Given the description of an element on the screen output the (x, y) to click on. 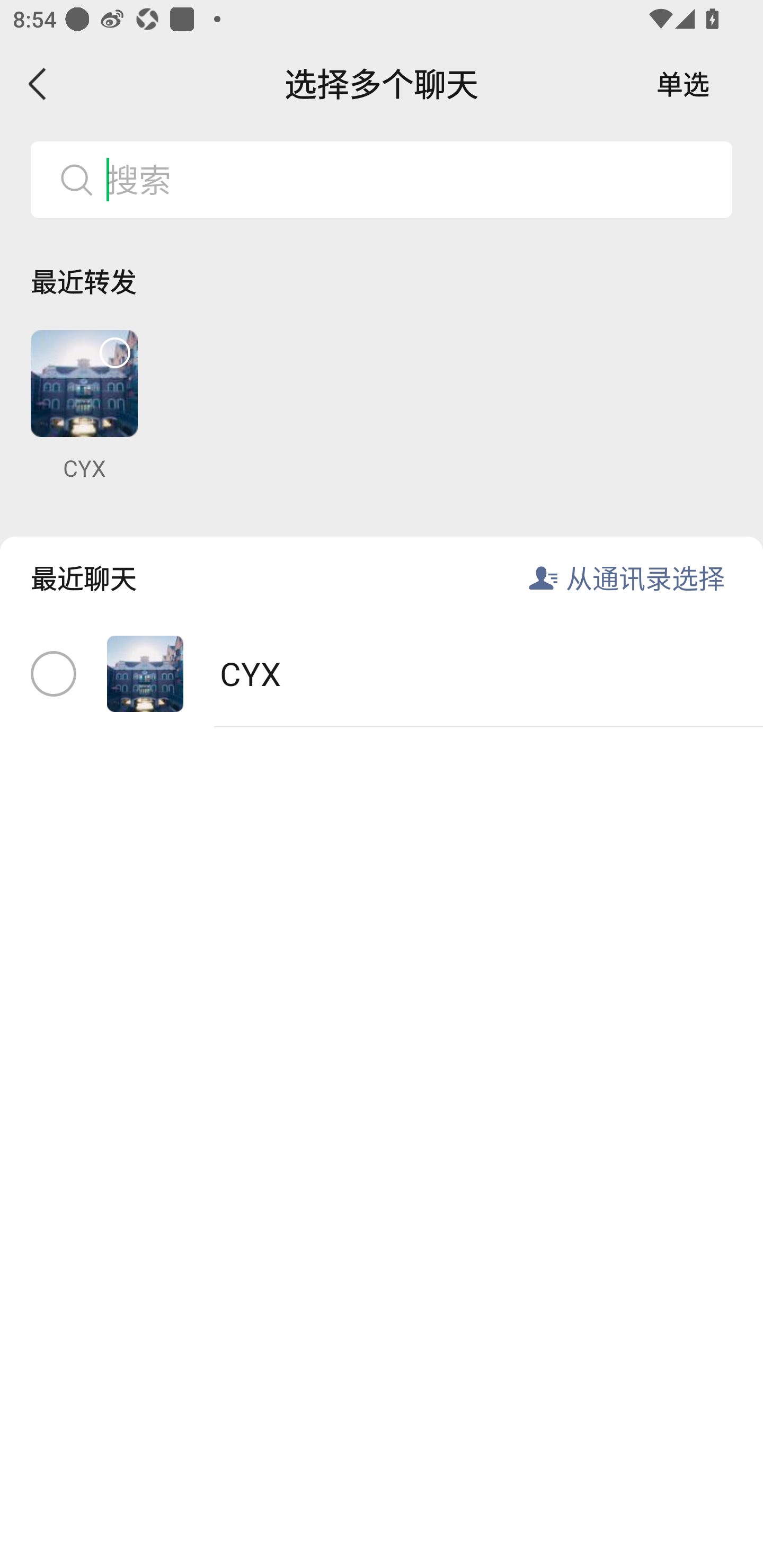
返回 (38, 83)
单选 (683, 83)
搜索 (411, 179)
CYX (84, 405)
从通讯录选择 (645, 577)
CYX (381, 673)
